Given the description of an element on the screen output the (x, y) to click on. 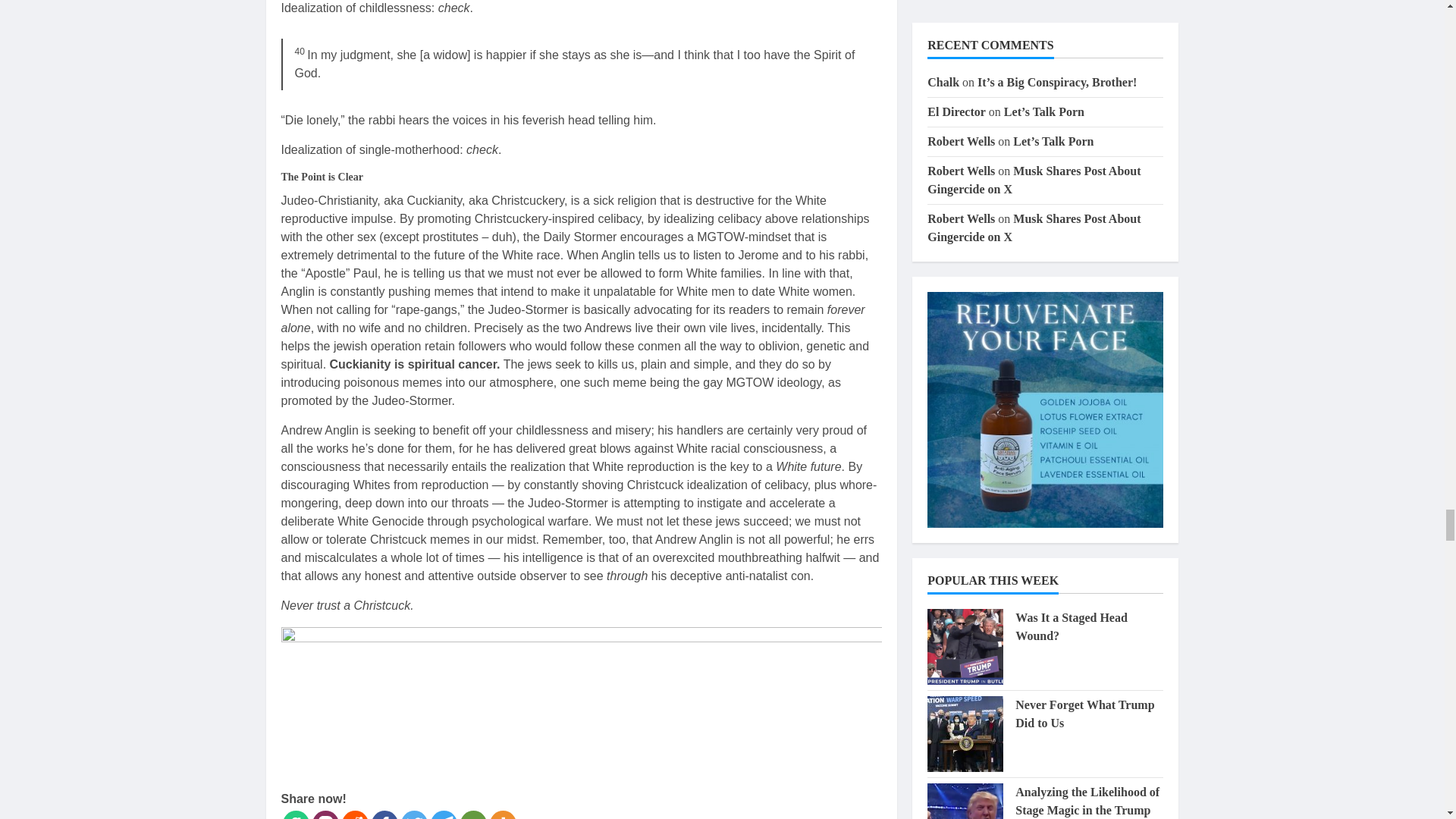
Parler (326, 814)
Gab (295, 814)
Reddit (354, 814)
